Given the description of an element on the screen output the (x, y) to click on. 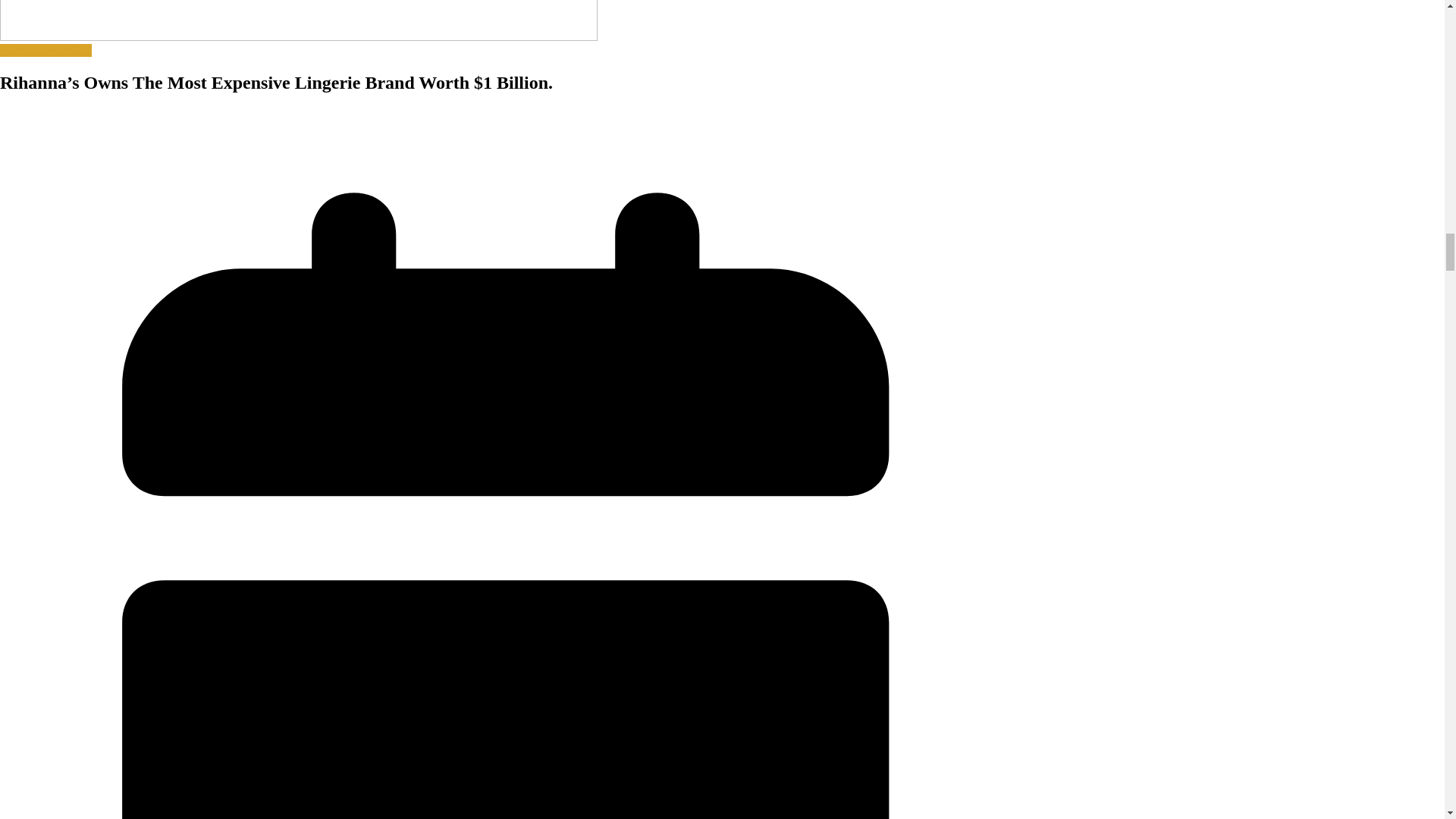
Entertainment Gist (45, 50)
